Given the description of an element on the screen output the (x, y) to click on. 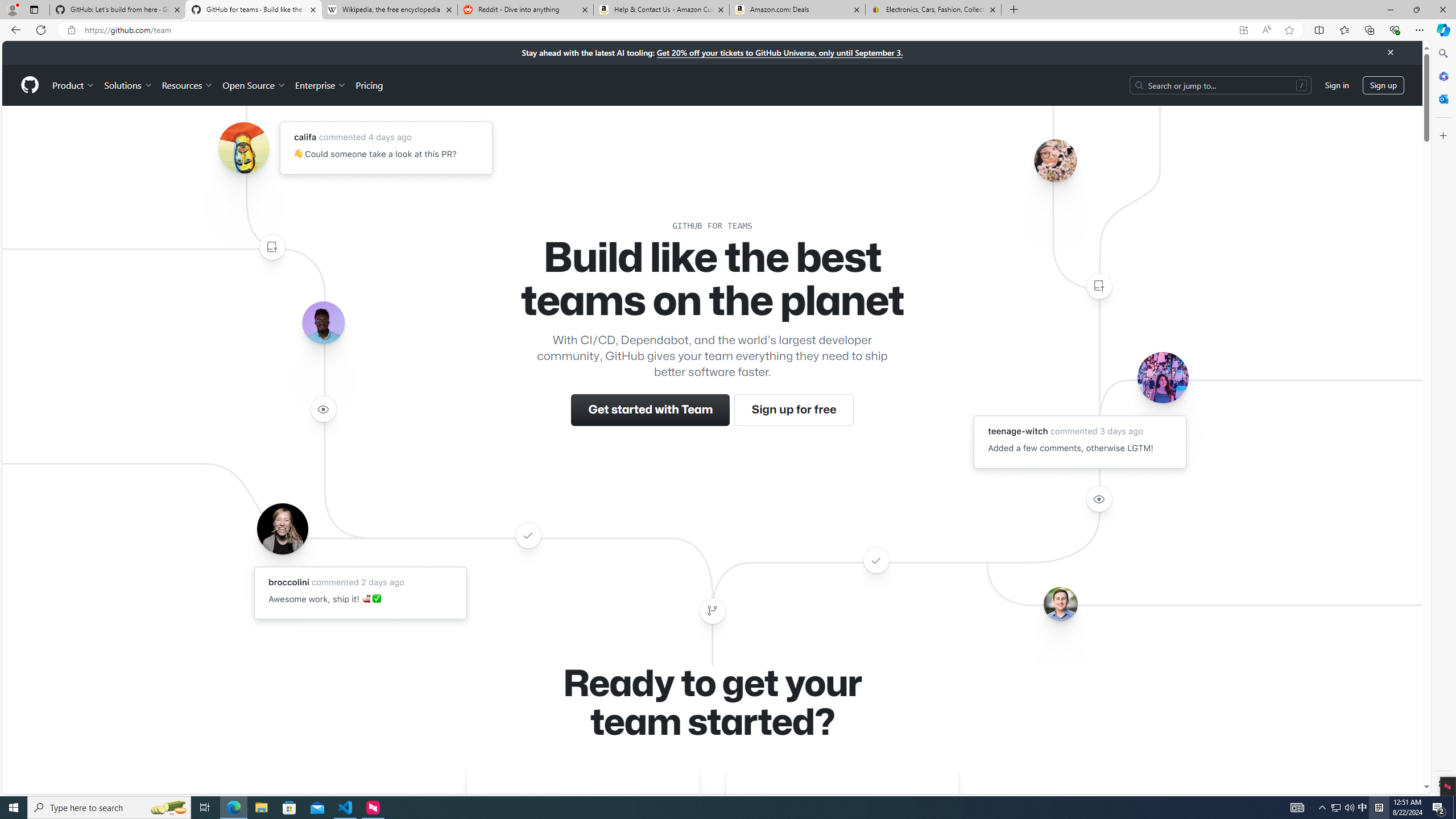
Product (74, 84)
Avatar of the user lerebear (323, 322)
Resources (187, 84)
Homepage (29, 85)
Reddit - Dive into anything (525, 9)
Amazon.com: Deals (797, 9)
